Given the description of an element on the screen output the (x, y) to click on. 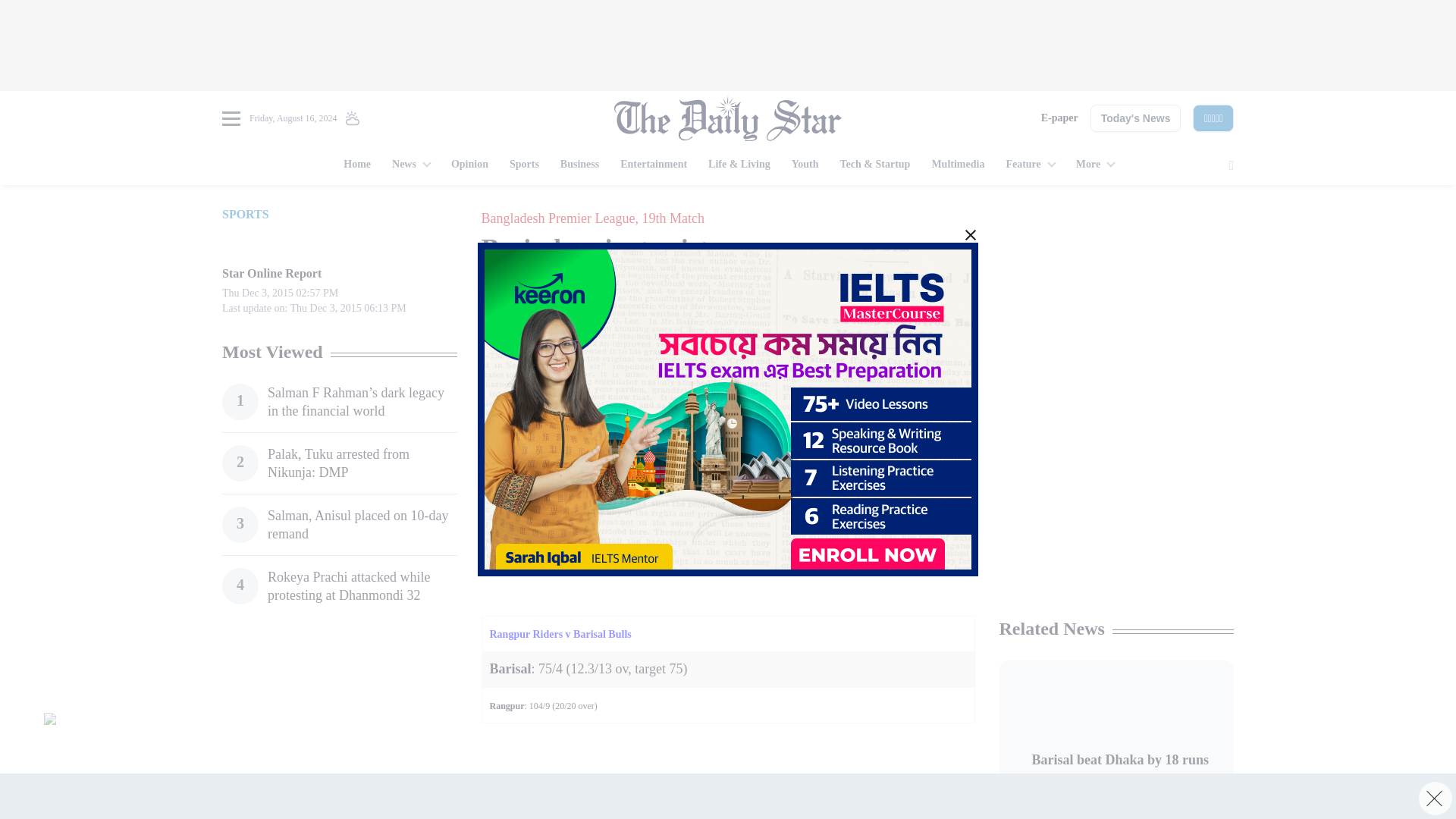
News (410, 165)
3rd party ad content (720, 432)
3rd party ad content (1116, 302)
Entertainment (653, 165)
3rd party ad content (727, 45)
3rd party ad content (720, 798)
Business (579, 165)
Opinion (469, 165)
Today's News (1135, 117)
Feature (1028, 165)
